Given the description of an element on the screen output the (x, y) to click on. 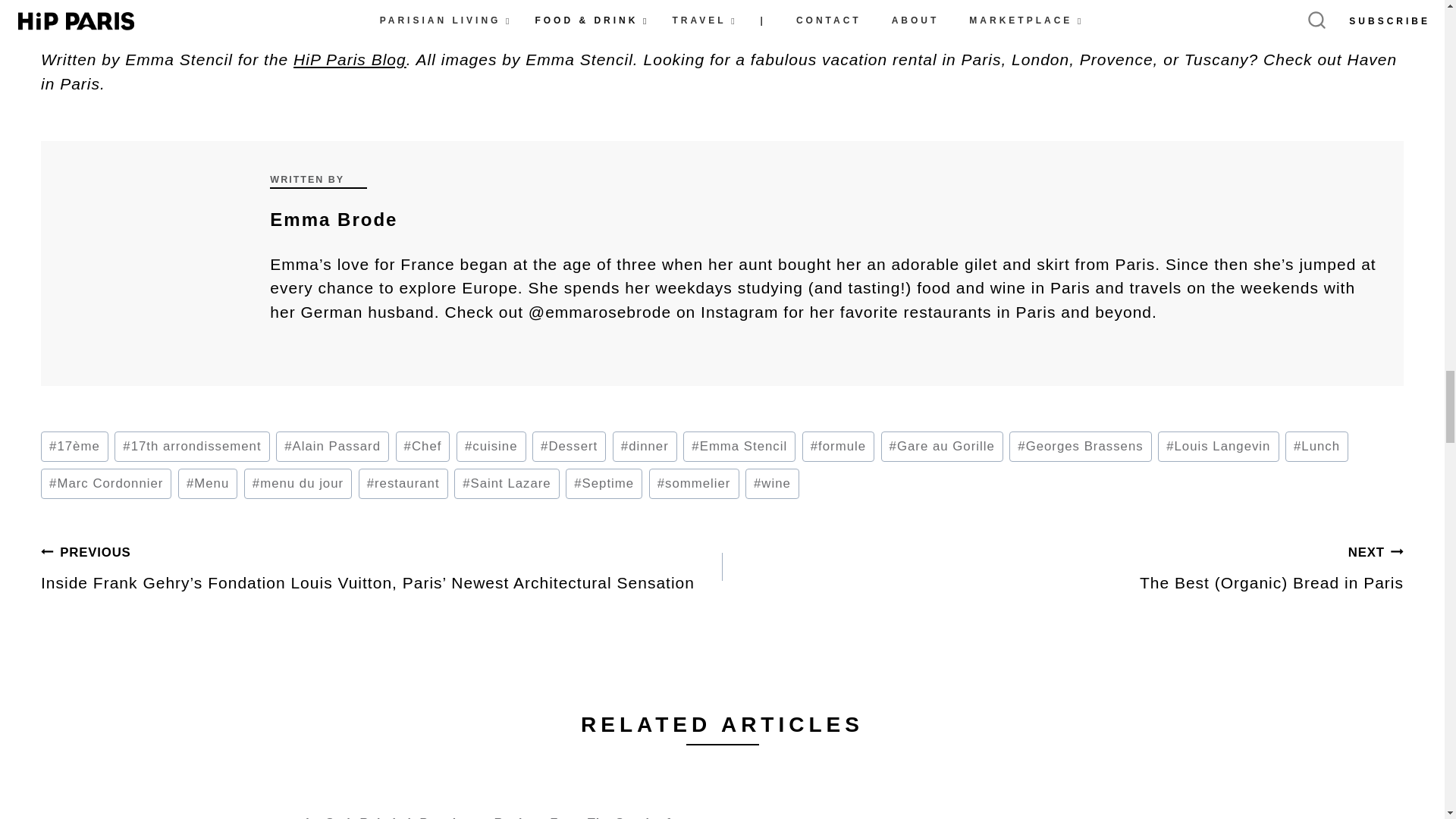
cuisine (491, 446)
Lunch (1316, 446)
Louis Langevin (1217, 446)
restaurant (403, 483)
Gare au Gorille (941, 446)
Alain Passard (332, 446)
17th arrondissement (192, 446)
Menu (207, 483)
menu du jour (298, 483)
Emma Stencil (738, 446)
